Given the description of an element on the screen output the (x, y) to click on. 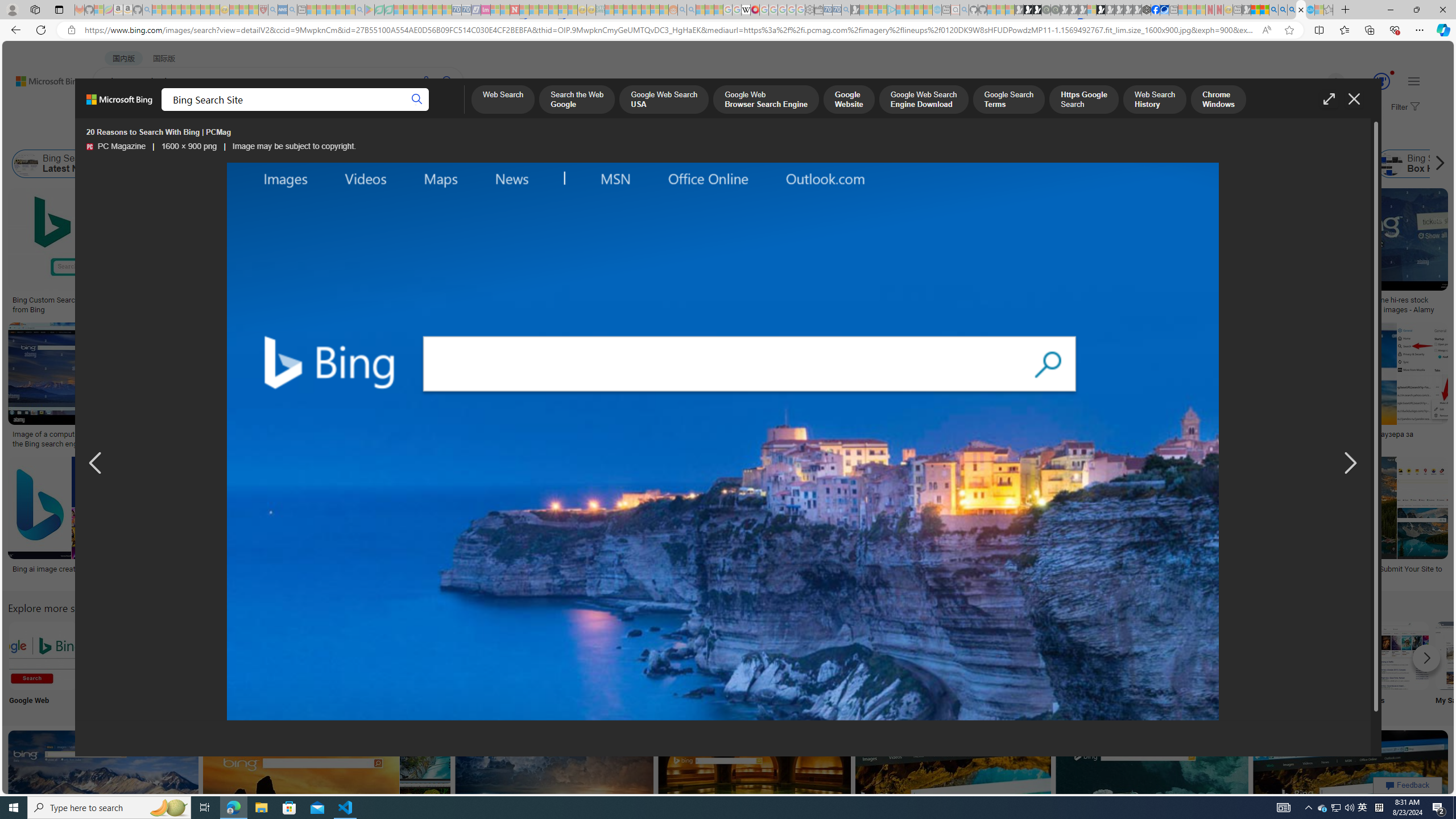
Tips (718, 665)
Download Bing Pictures | Wallpapers.com (595, 434)
" Bing " search engine web page Stock Photo - Alamy (775, 438)
Bar Install (944, 665)
DICT (407, 111)
